Given the description of an element on the screen output the (x, y) to click on. 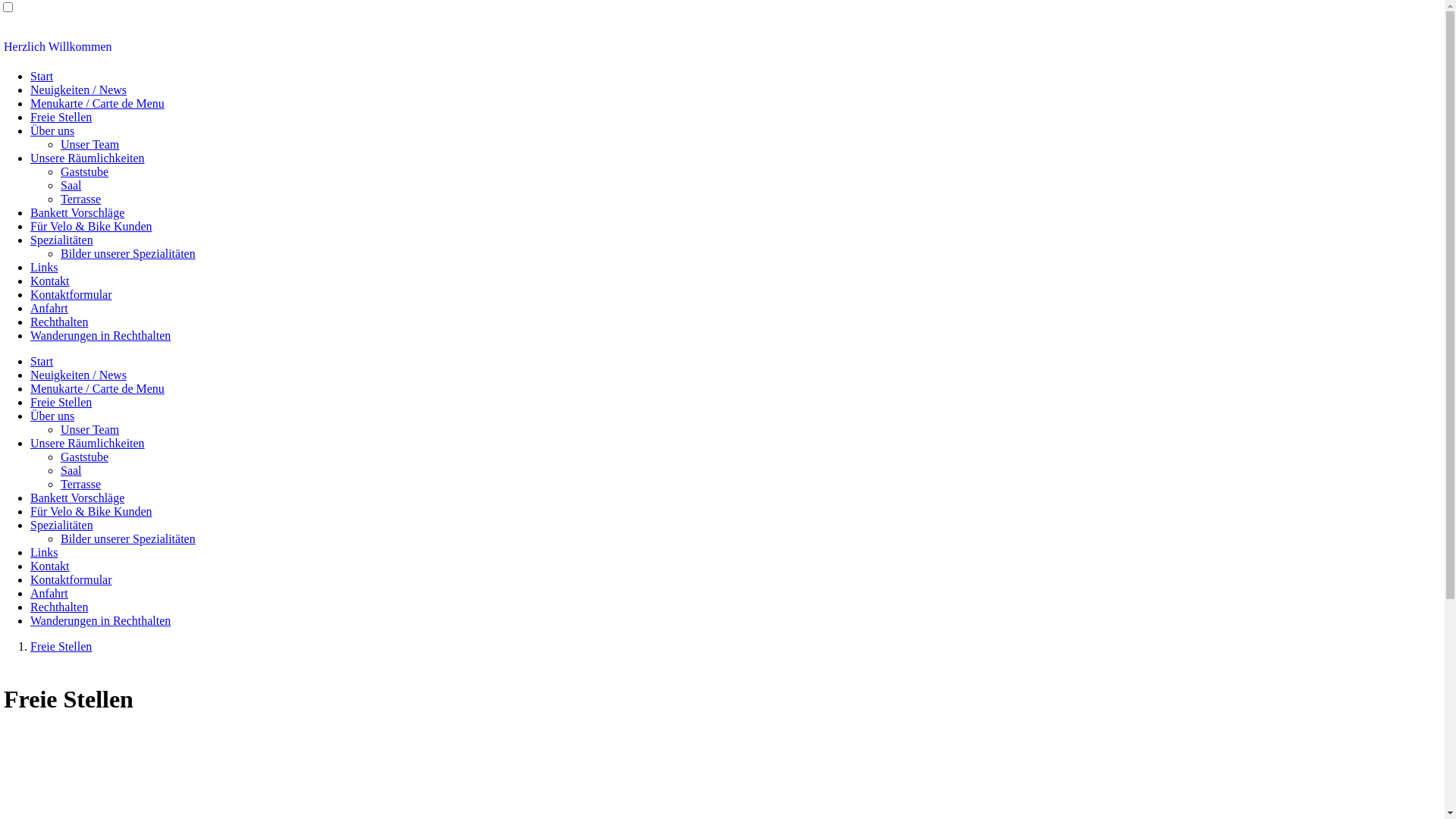
Saal Element type: text (70, 184)
Anfahrt Element type: text (49, 307)
Kontakt Element type: text (49, 565)
Anfahrt Element type: text (49, 592)
Neuigkeiten / News Element type: text (78, 89)
Neuigkeiten / News Element type: text (78, 374)
Herzlich Willkommen Element type: text (721, 46)
Terrasse Element type: text (80, 483)
Menukarte / Carte de Menu Element type: text (97, 103)
Rechthalten Element type: text (58, 321)
Saal Element type: text (70, 470)
Freie Stellen Element type: text (60, 401)
Kontaktformular Element type: text (71, 294)
Gaststube Element type: text (84, 456)
Unser Team Element type: text (89, 429)
Links Element type: text (43, 552)
Links Element type: text (43, 266)
Freie Stellen Element type: text (60, 116)
Wanderungen in Rechthalten Element type: text (100, 620)
Rechthalten Element type: text (58, 606)
Freie Stellen Element type: text (60, 646)
Start Element type: text (41, 360)
Terrasse Element type: text (80, 198)
Gaststube Element type: text (84, 171)
Menukarte / Carte de Menu Element type: text (97, 388)
Start Element type: text (41, 75)
Unser Team Element type: text (89, 144)
Wanderungen in Rechthalten Element type: text (100, 335)
Kontaktformular Element type: text (71, 579)
Kontakt Element type: text (49, 280)
